Given the description of an element on the screen output the (x, y) to click on. 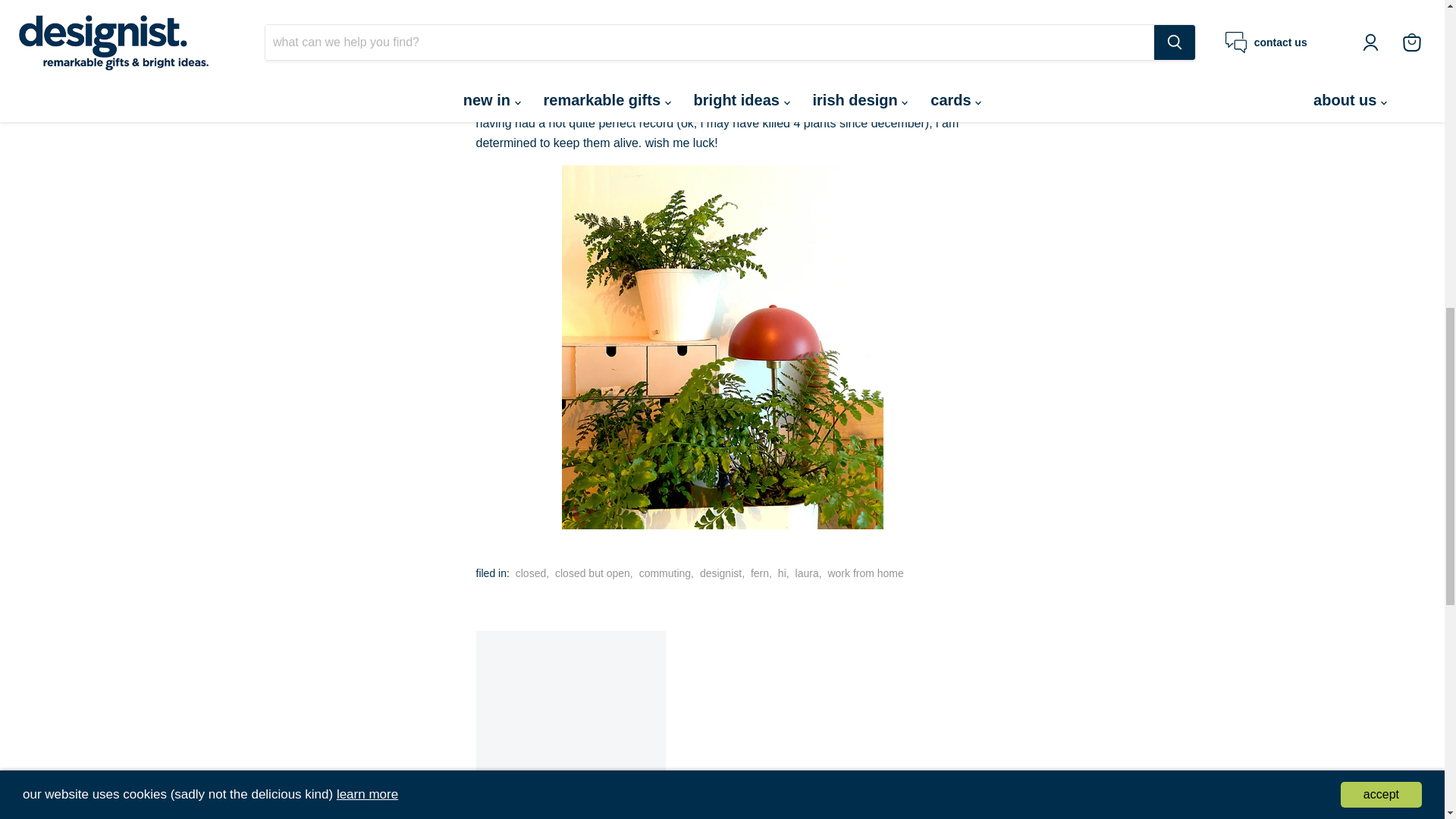
Show articles tagged laura (806, 573)
Show articles tagged closed (530, 573)
Show articles tagged work from home (864, 573)
Show articles tagged fern (759, 573)
Show articles tagged designist (720, 573)
Show articles tagged commuting (664, 573)
Show articles tagged closed but open (592, 573)
